Given the description of an element on the screen output the (x, y) to click on. 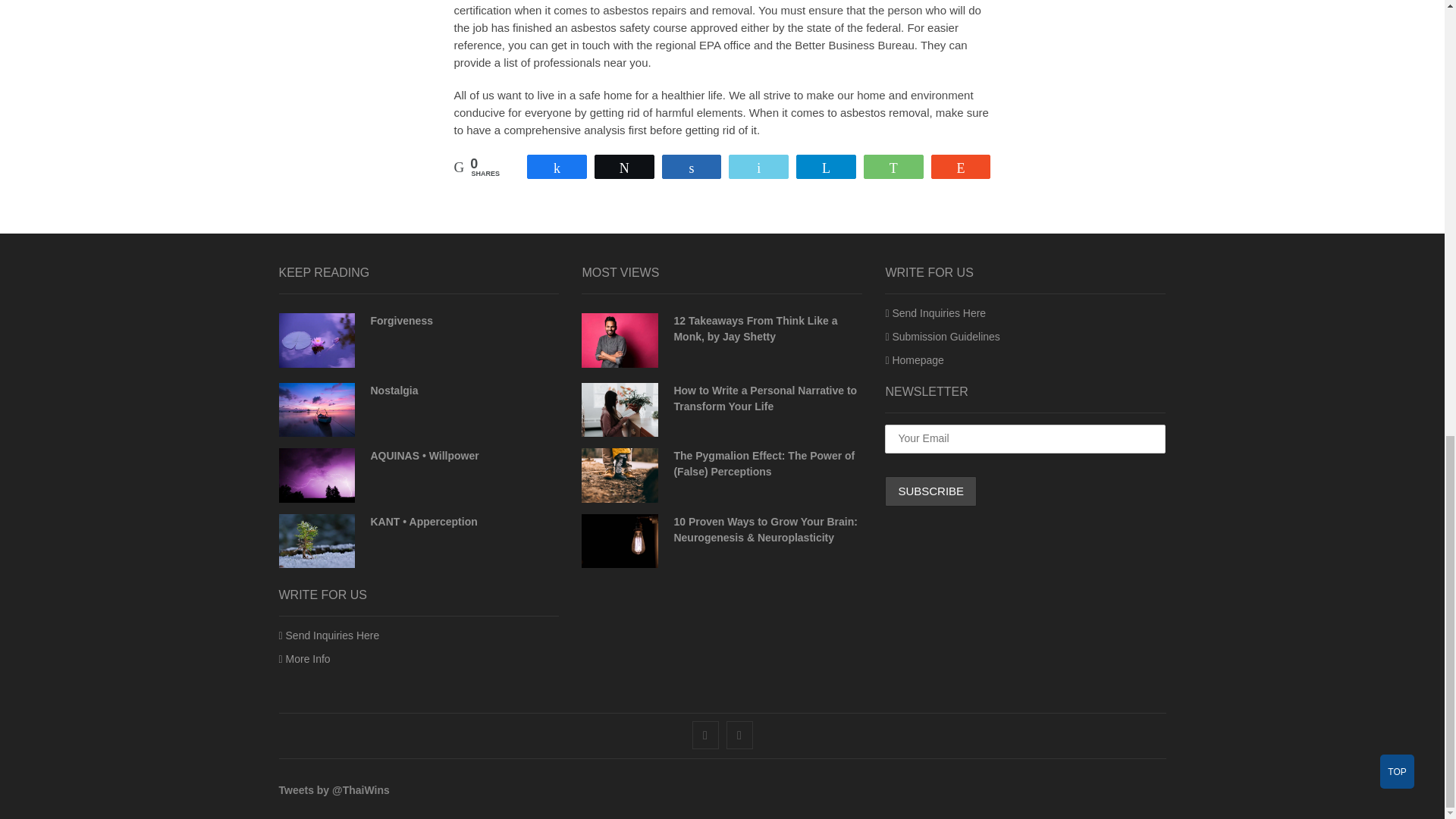
Forgiveness (400, 320)
12 Takeaways From Think Like a Monk, by Jay Shetty (754, 328)
How to Write a Personal Narrative to Transform Your Life (764, 398)
Submission Guidelines (941, 336)
12 Takeaways From Think Like a Monk, by Jay Shetty (619, 339)
More Info (304, 658)
Forgiveness (317, 339)
Nostalgia (393, 390)
Our Address (304, 658)
Send Inquiries Here (329, 635)
12 Takeaways From Think Like a Monk, by Jay Shetty (754, 328)
Forgiveness (400, 320)
Nostalgia (393, 390)
Send Inquiries Here (935, 313)
Homepage (914, 359)
